Given the description of an element on the screen output the (x, y) to click on. 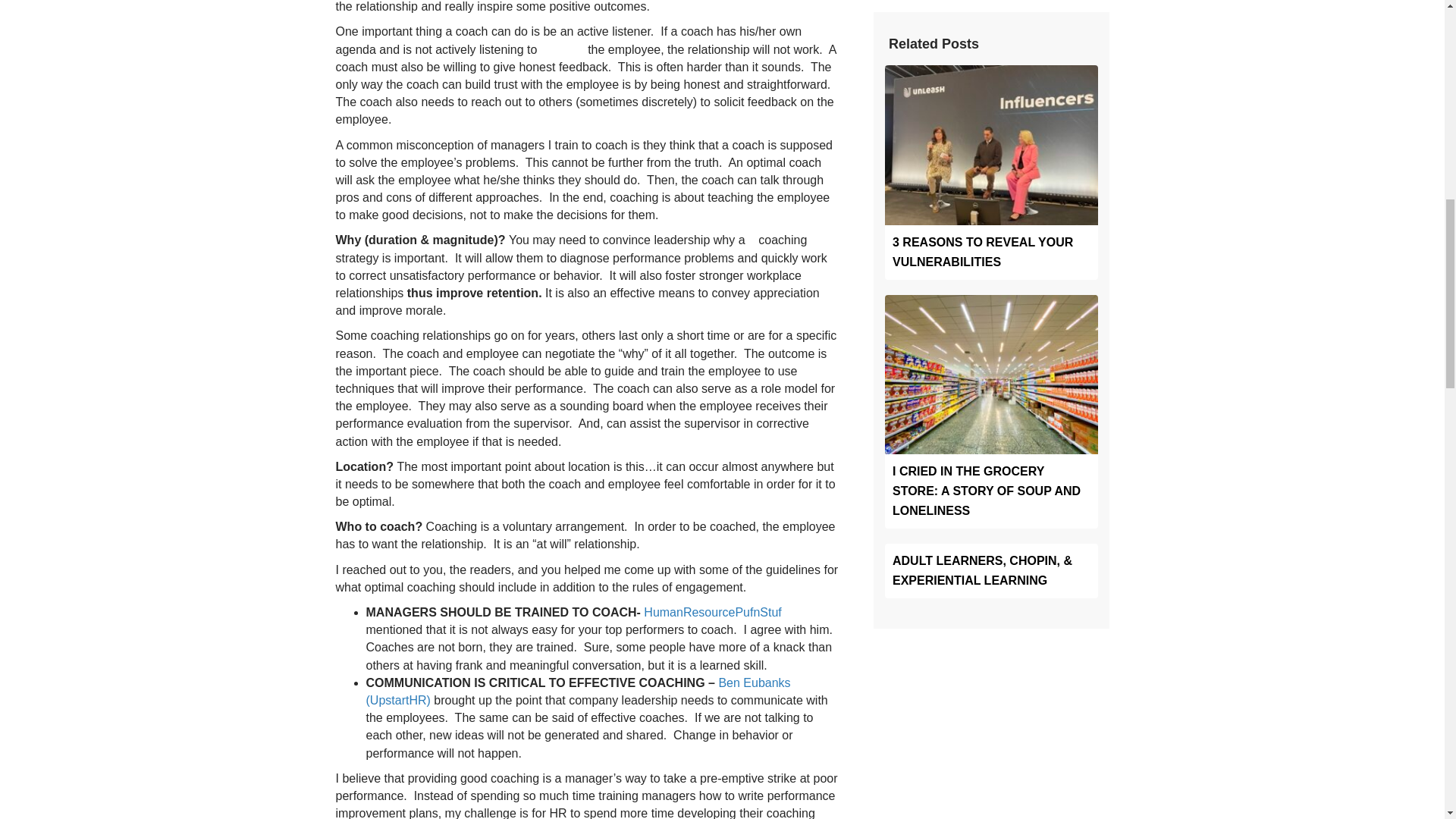
HumanResourcePufnStuf (711, 612)
I Cried in the Grocery Store: A Story of Soup and Loneliness (991, 373)
3 Reasons To Reveal Your Vulnerabilities (991, 144)
3 Reasons To Reveal Your Vulnerabilities (982, 251)
3 REASONS TO REVEAL YOUR VULNERABILITIES (982, 251)
I Cried in the Grocery Store: A Story of Soup and Loneliness (986, 490)
